Given the description of an element on the screen output the (x, y) to click on. 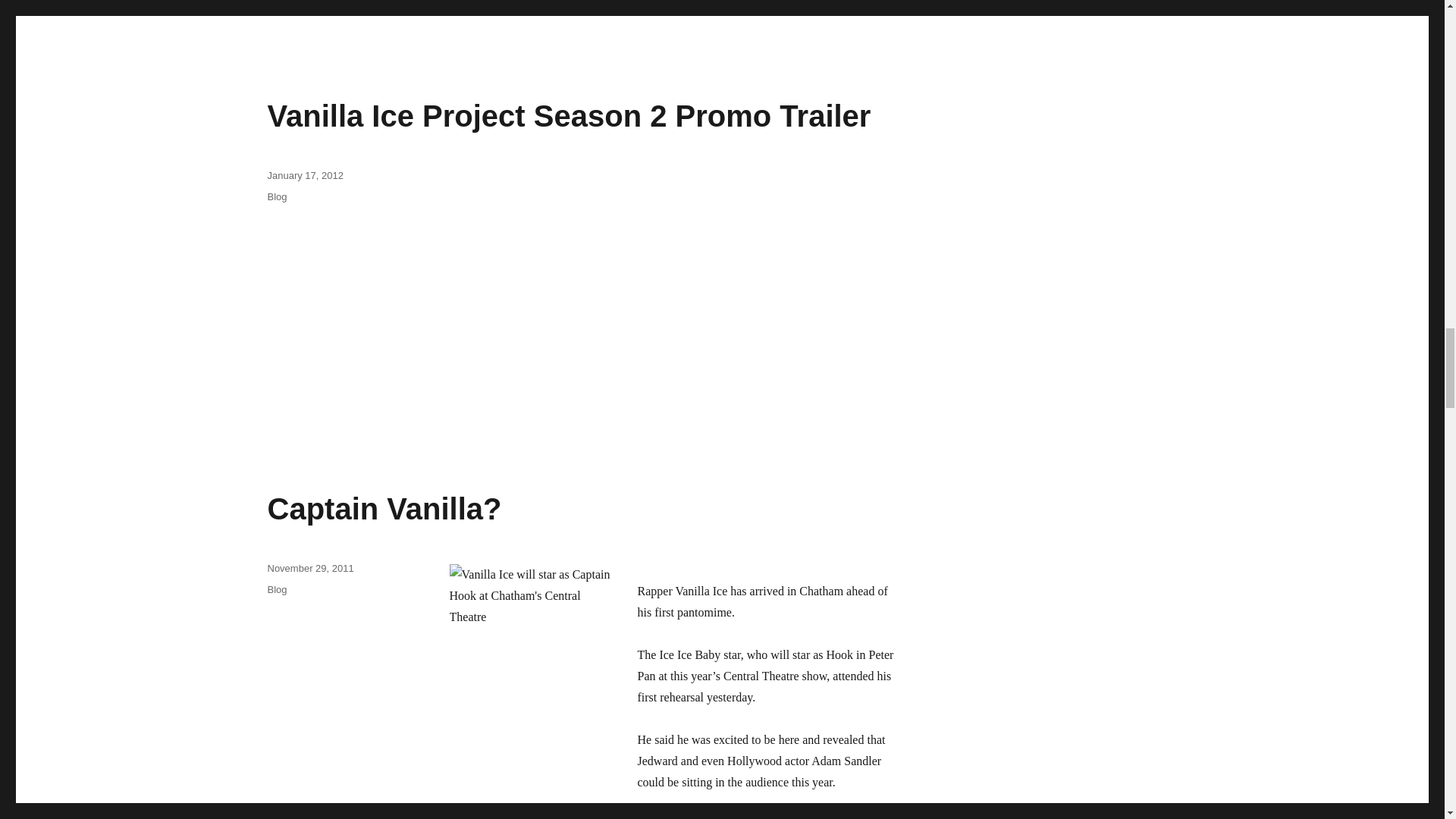
November 29, 2011 (309, 568)
Blog (276, 589)
Captain Vanilla? (383, 508)
Vanilla Ice Project Season 2 Promo Trailer (568, 115)
Blog (276, 196)
January 17, 2012 (304, 174)
